Given the description of an element on the screen output the (x, y) to click on. 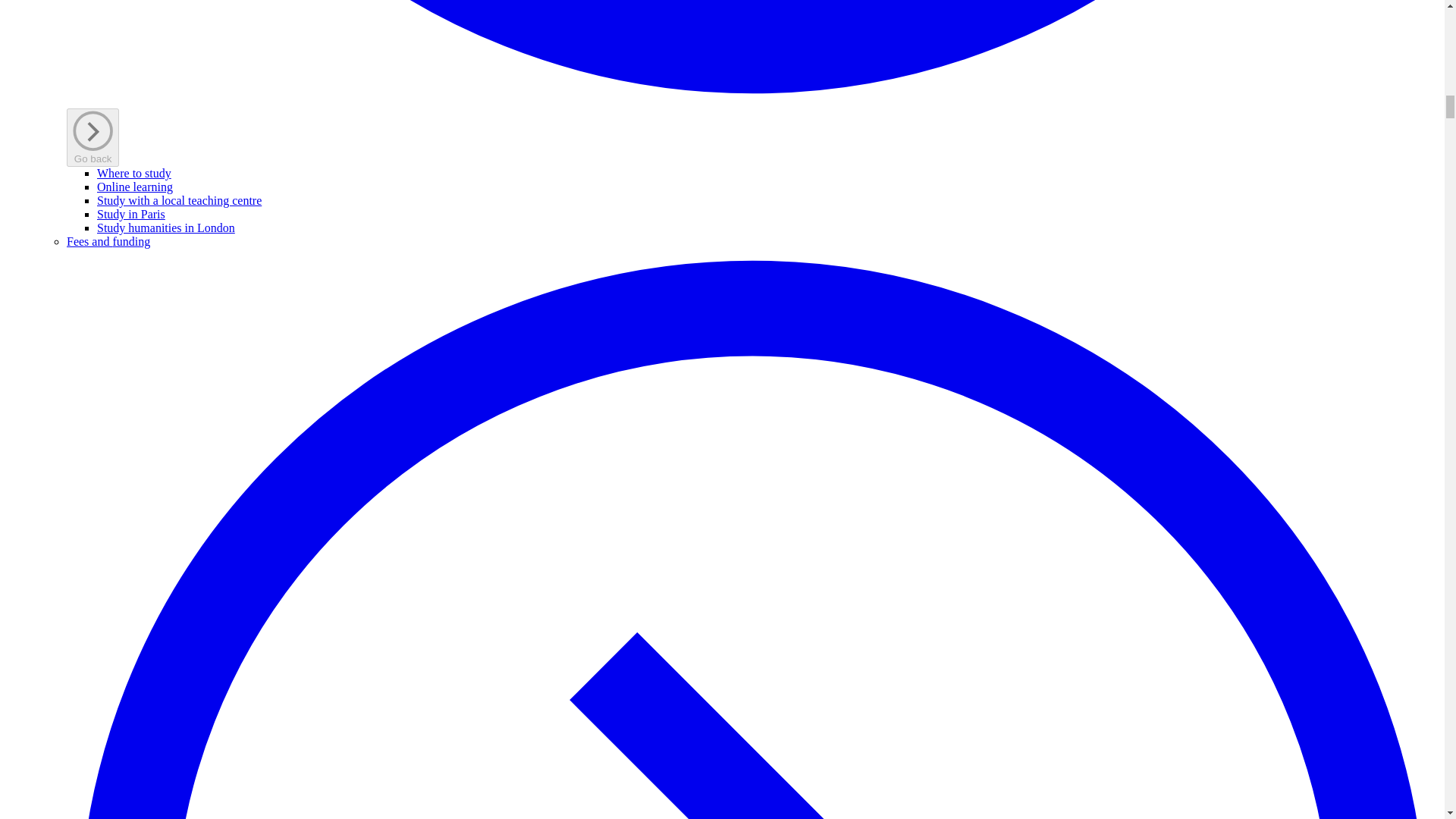
Where to study (134, 173)
Study humanities in London (165, 227)
Study in Paris (131, 214)
Online learning (135, 186)
Go back (92, 137)
Study with a local teaching centre (179, 200)
